Given the description of an element on the screen output the (x, y) to click on. 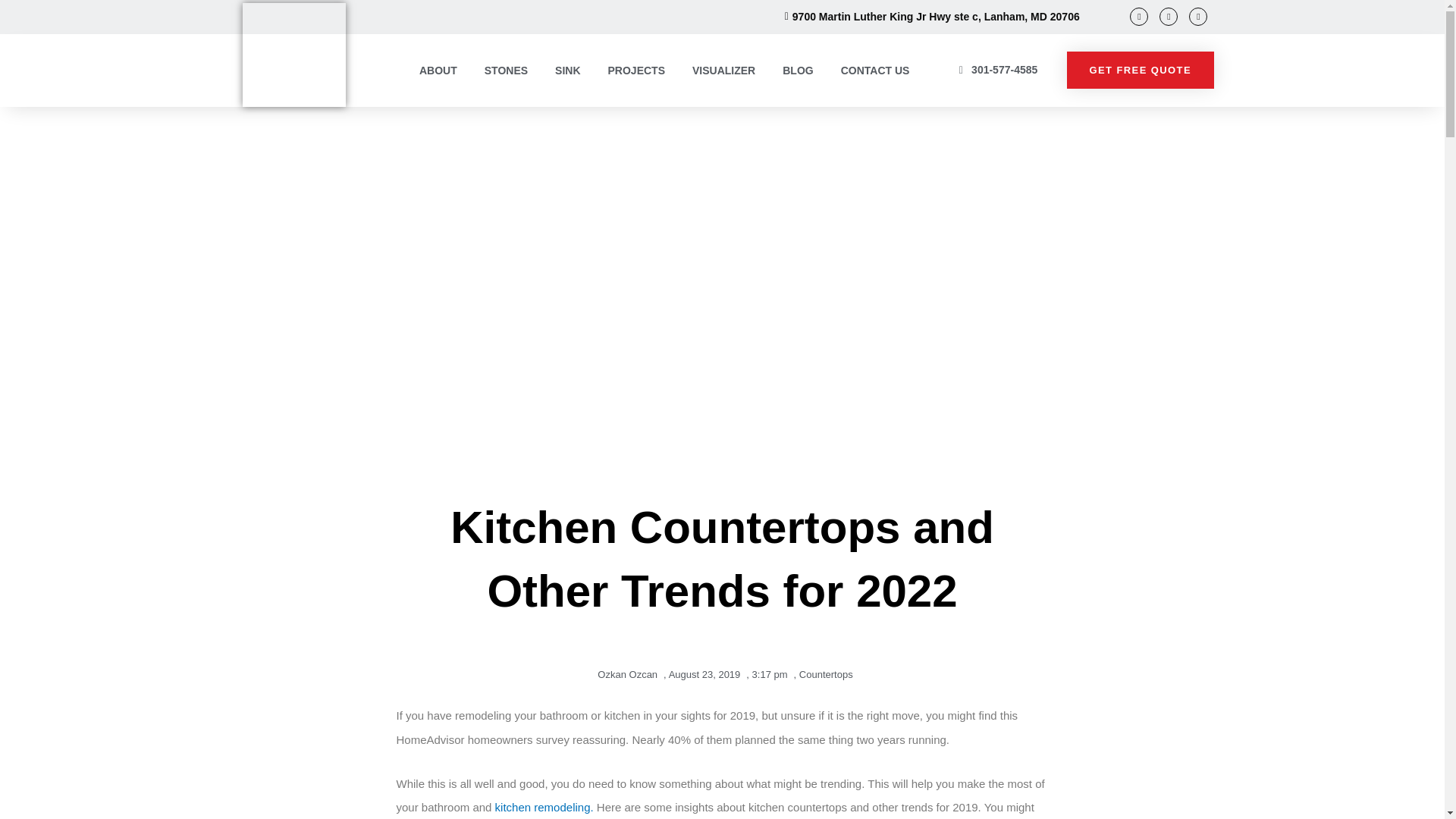
Twitter (1167, 16)
VISUALIZER (723, 70)
SINK (567, 70)
STONES (505, 70)
Yelp (1198, 16)
BLOG (797, 70)
PROJECTS (636, 70)
Facebook-f (1138, 16)
GET FREE QUOTE (1140, 69)
